Given the description of an element on the screen output the (x, y) to click on. 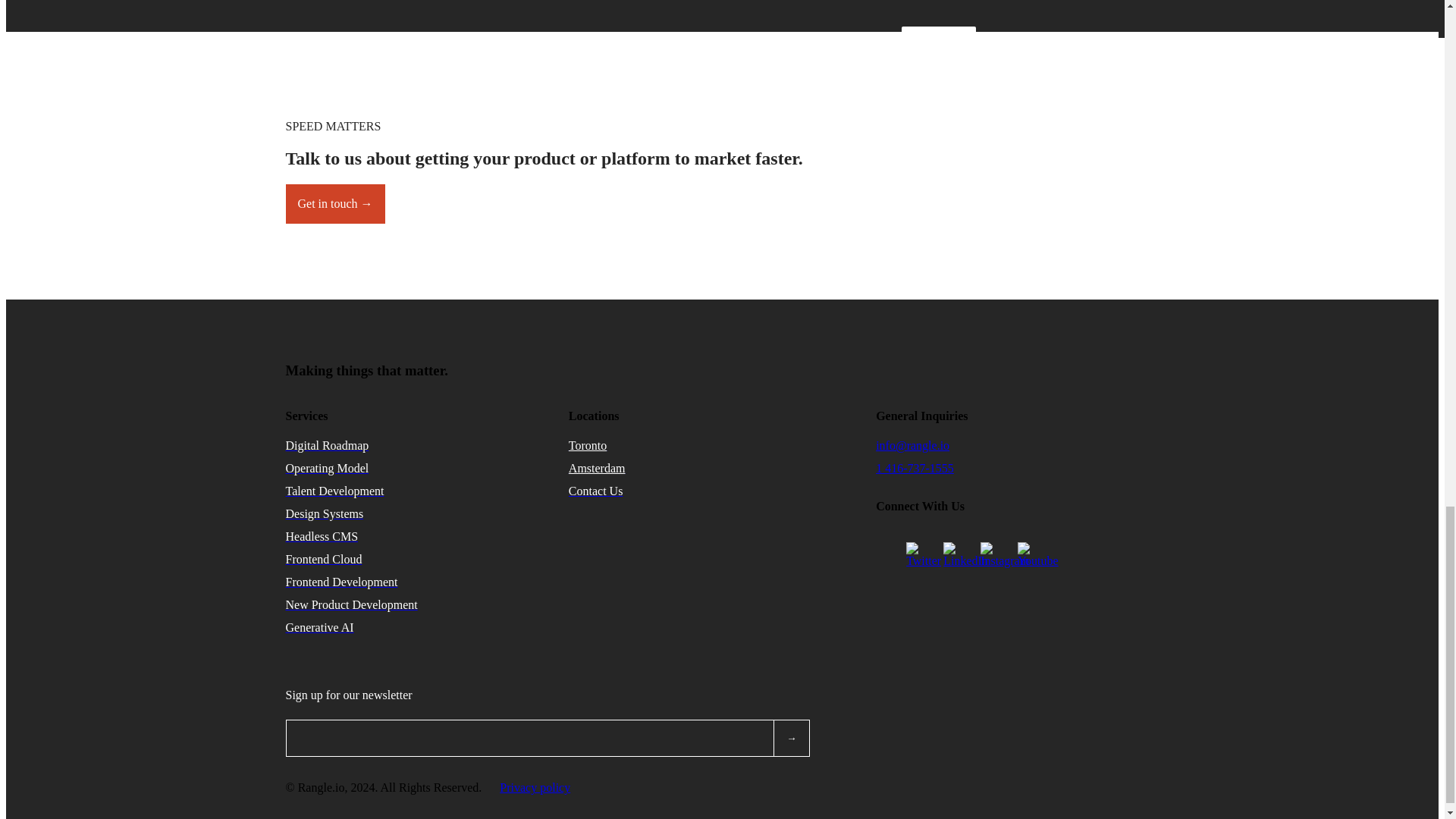
New Product Development (350, 604)
Digital Roadmap (326, 445)
Design Systems (323, 513)
Frontend Cloud (323, 558)
1 416-737-1555 (914, 468)
Amsterdam (597, 468)
Operating Model (326, 468)
Frontend Development (341, 581)
Toronto (588, 445)
Generative AI (319, 626)
Contact Us (596, 490)
Talent Development (334, 490)
Headless CMS (321, 535)
